Given the description of an element on the screen output the (x, y) to click on. 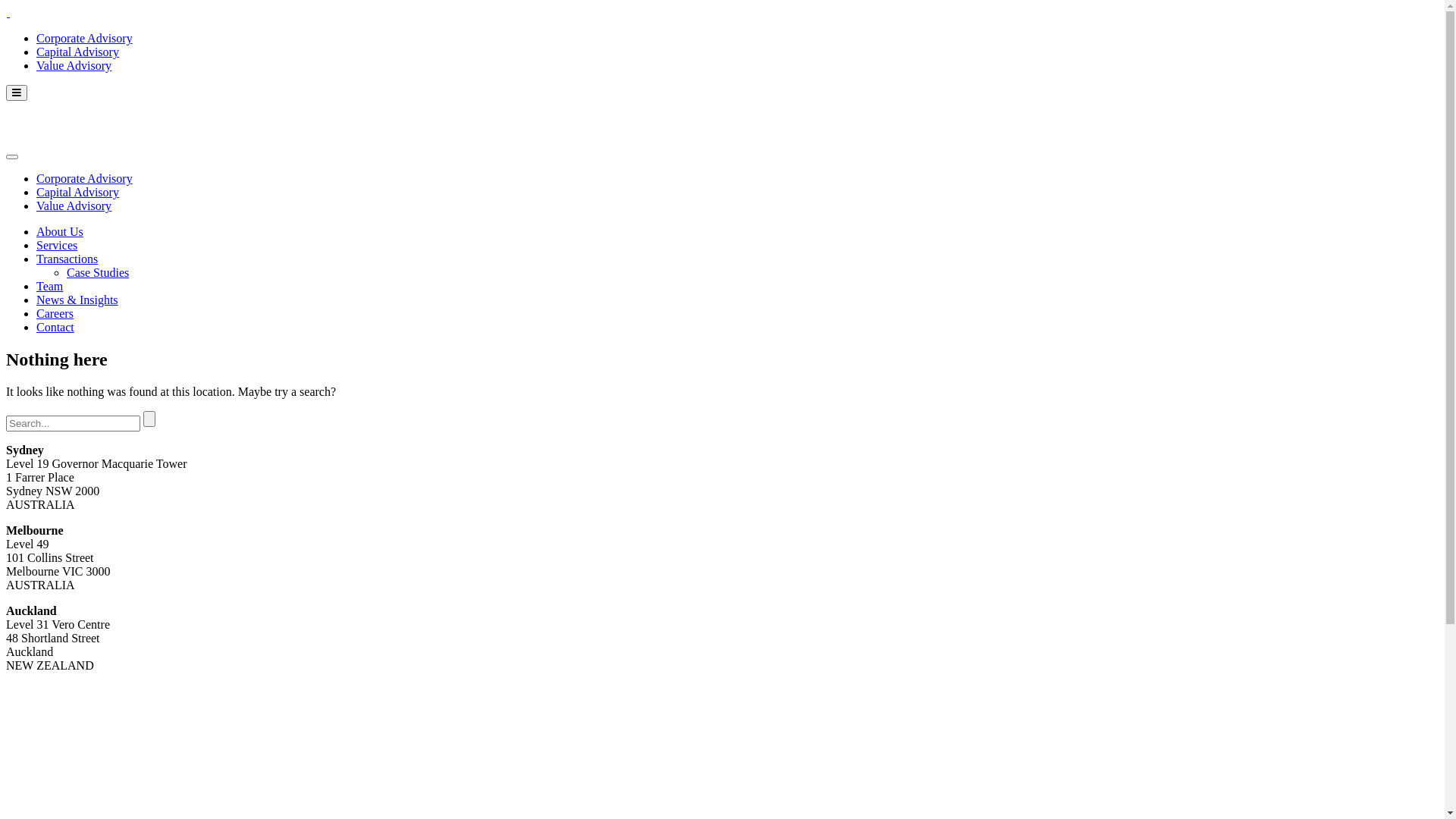
Team Element type: text (49, 285)
About Us Element type: text (59, 231)
Value Advisory Element type: text (73, 205)
Corporate Advisory Element type: text (84, 37)
Corporate Advisory Element type: text (84, 178)
Services Element type: text (56, 244)
Capital Advisory Element type: text (77, 51)
Capital Advisory Element type: text (77, 191)
Transactions Element type: text (66, 258)
Contact Element type: text (55, 326)
Value Advisory Element type: text (73, 65)
Careers Element type: text (54, 313)
Case Studies Element type: text (97, 272)
News & Insights Element type: text (77, 299)
